Given the description of an element on the screen output the (x, y) to click on. 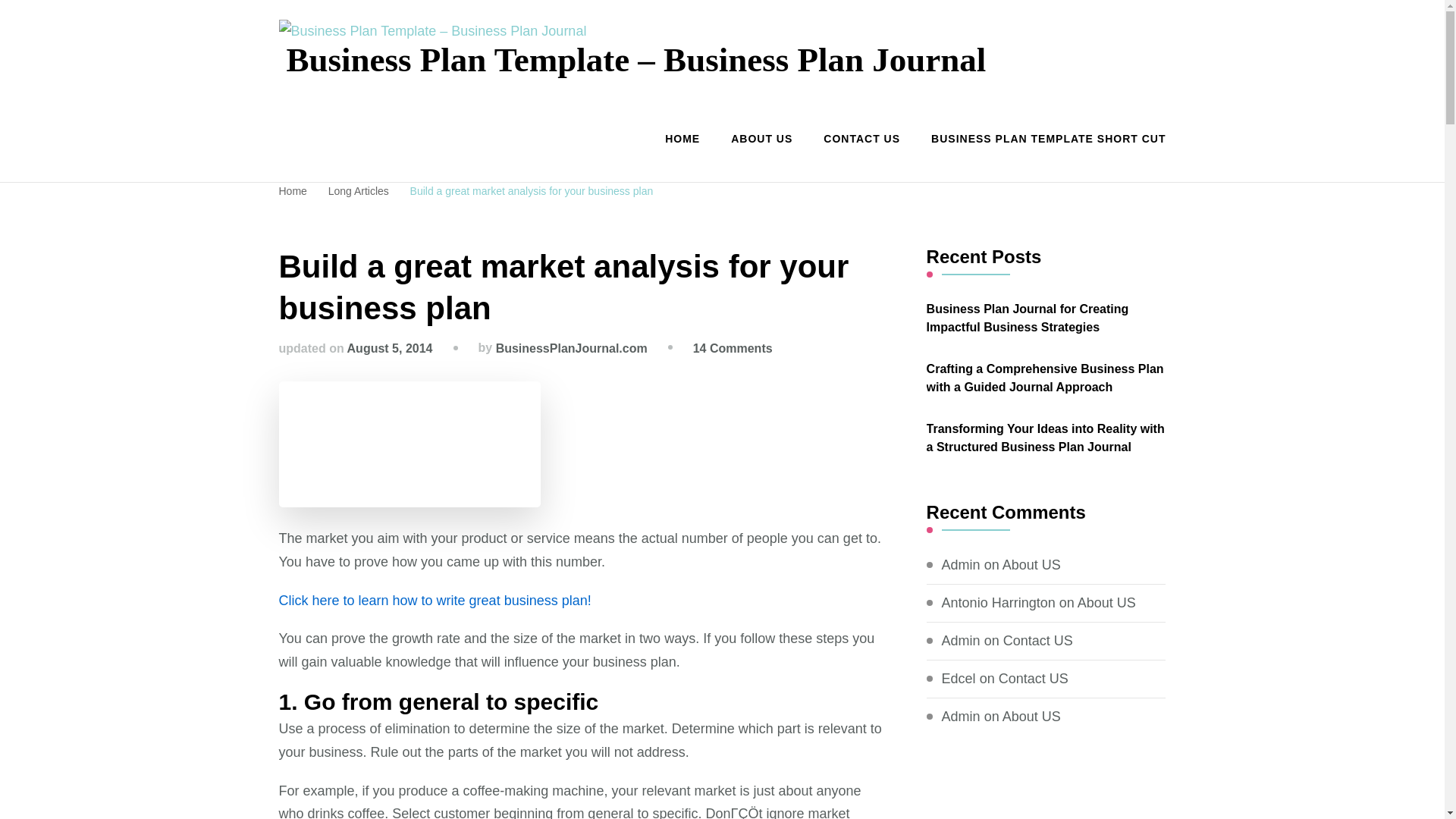
Home (293, 191)
BUSINESS PLAN TEMPLATE SHORT CUT (1041, 139)
August 5, 2014 (389, 348)
CONTACT US (861, 139)
Click here to learn how to write great business plan! (435, 600)
Long Articles (360, 191)
Build a great market analysis for your business plan (531, 191)
BusinessPlanJournal.com (571, 348)
ABOUT US (761, 139)
